Given the description of an element on the screen output the (x, y) to click on. 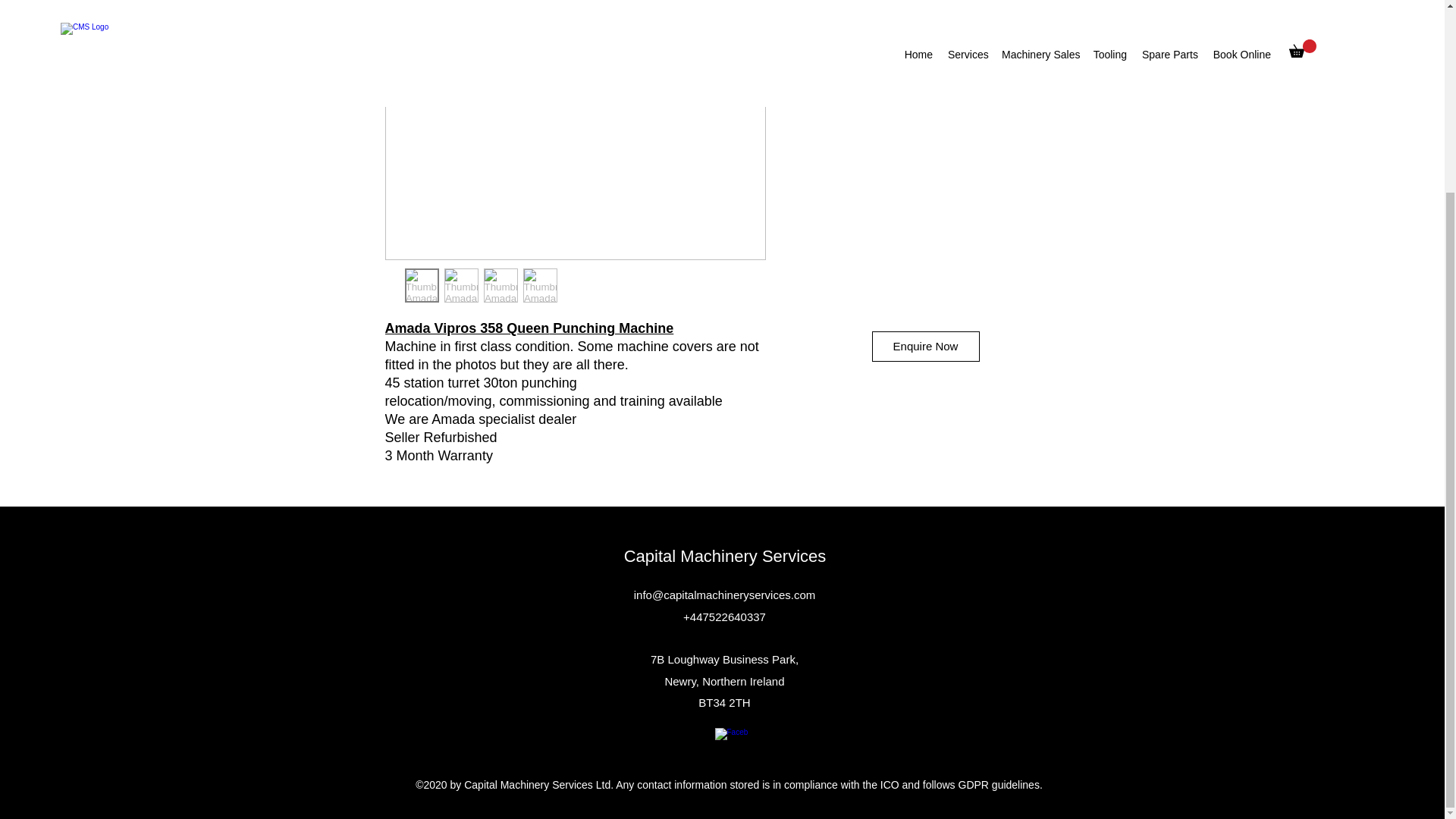
Capital Machinery Services (725, 556)
Enquire Now (925, 346)
Add to Cart (924, 28)
